Given the description of an element on the screen output the (x, y) to click on. 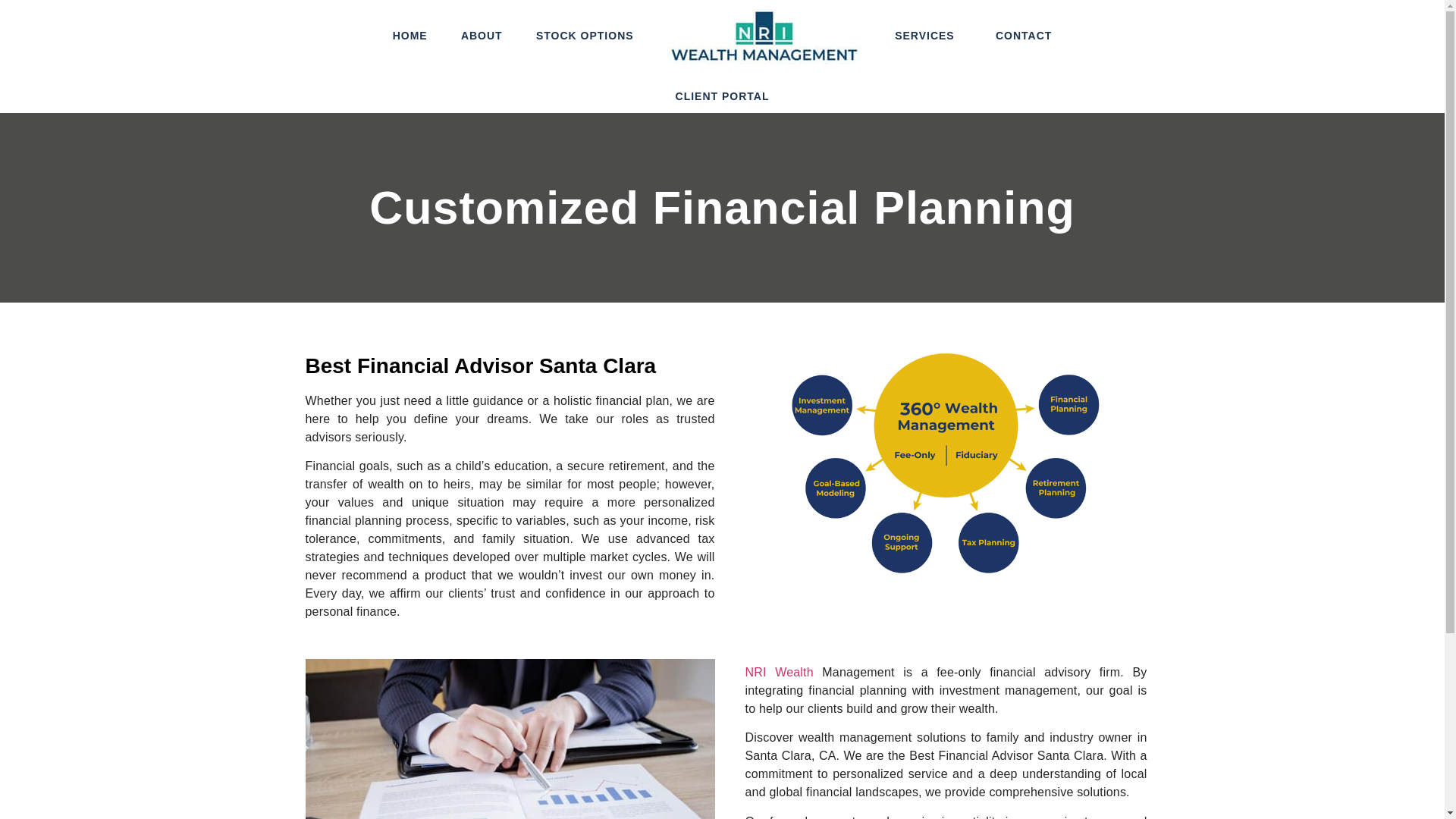
CLIENT PORTAL (721, 96)
ABOUT (481, 35)
HOME (409, 35)
SERVICES (927, 35)
STOCK OPTIONS (584, 35)
NRI Wealth (778, 671)
CONTACT (1023, 35)
